Given the description of an element on the screen output the (x, y) to click on. 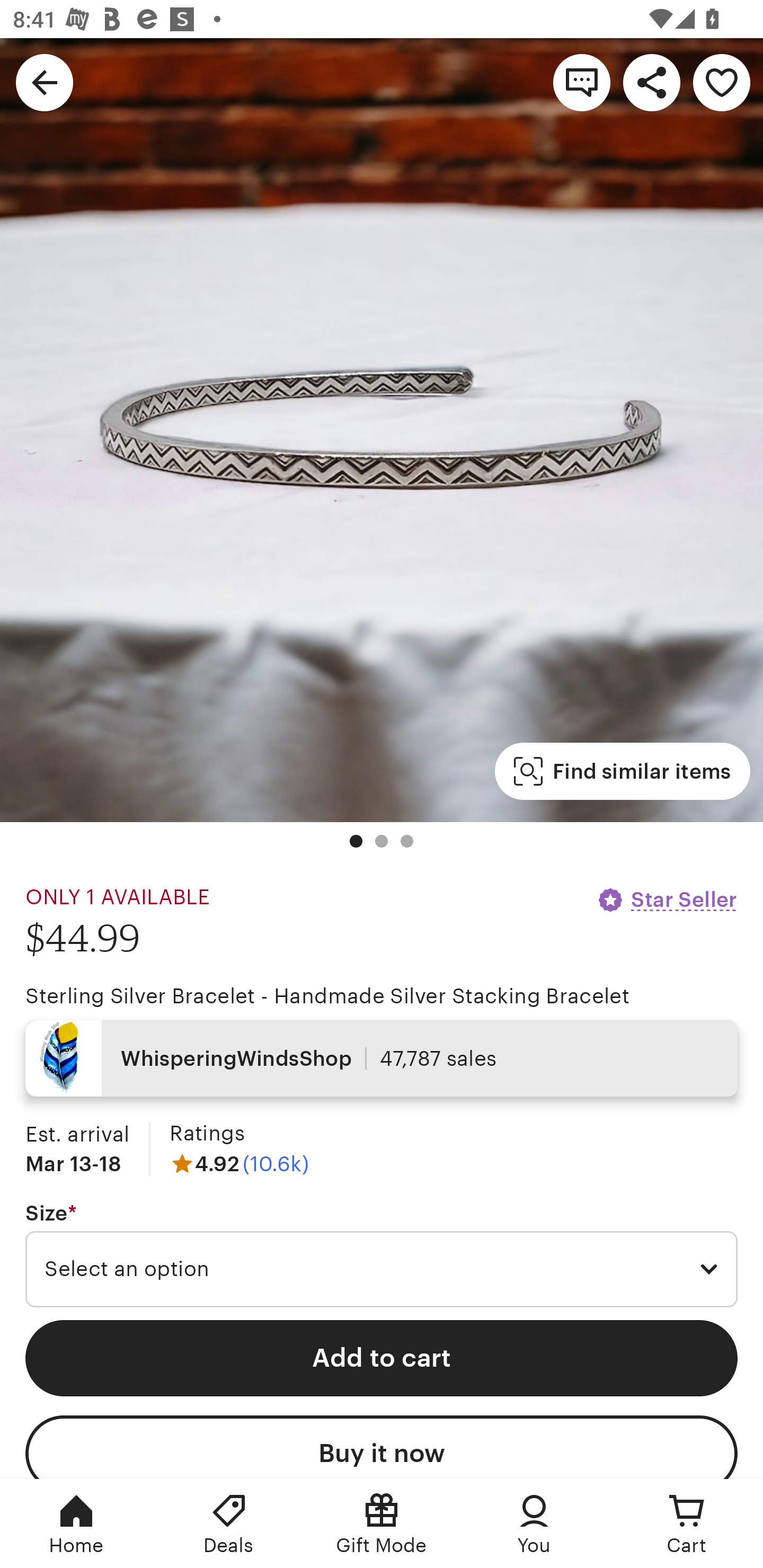
Navigate up (44, 81)
Contact shop (581, 81)
Share (651, 81)
Find similar items (622, 771)
Star Seller (666, 899)
WhisperingWindsShop 47,787 sales (381, 1058)
Ratings (206, 1133)
4.92 (10.6k) (239, 1163)
Size * Required Select an option (381, 1254)
Select an option (381, 1268)
Add to cart (381, 1358)
Buy it now (381, 1446)
Deals (228, 1523)
Gift Mode (381, 1523)
You (533, 1523)
Cart (686, 1523)
